Given the description of an element on the screen output the (x, y) to click on. 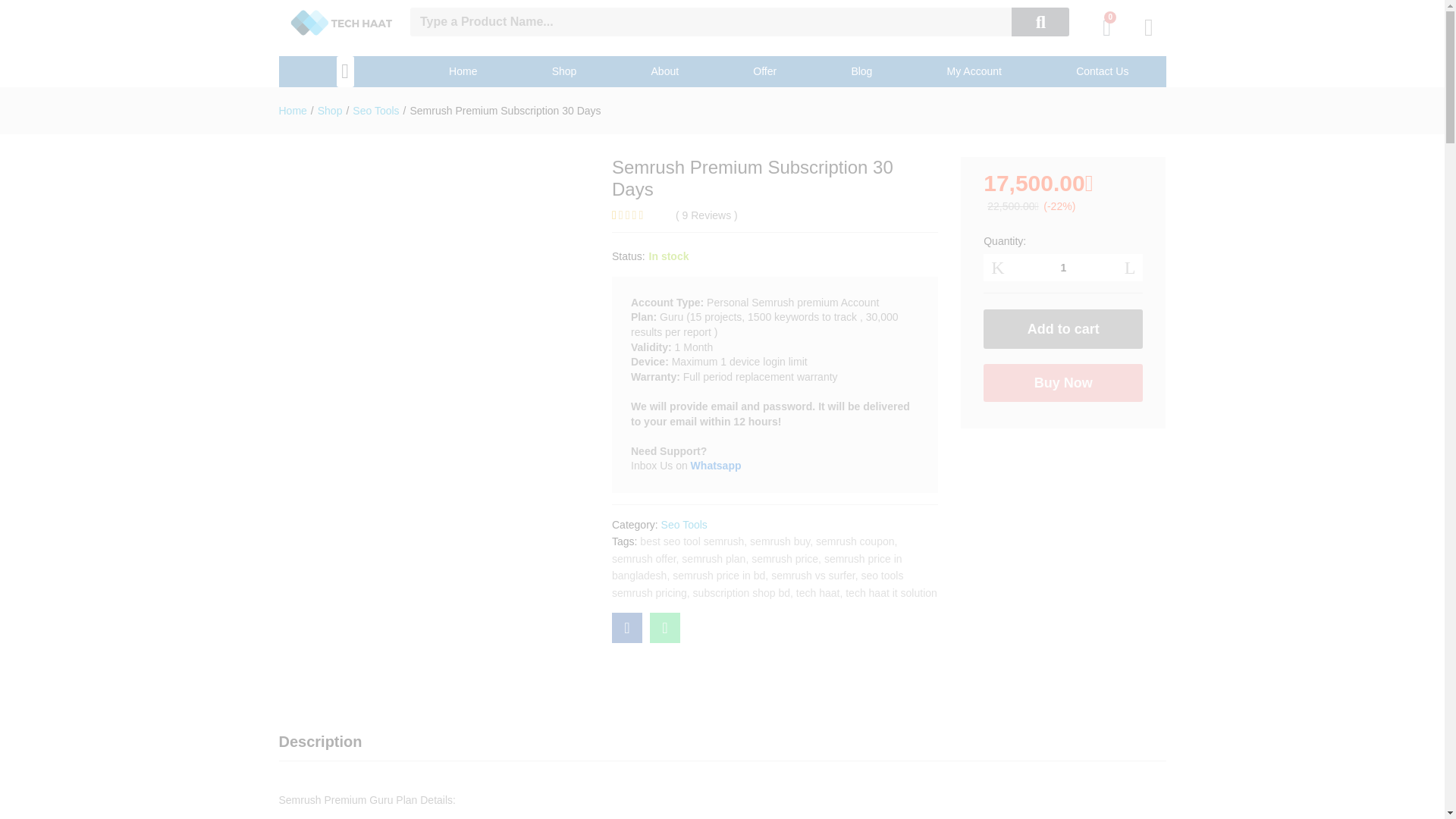
Semrush Premium Subscription 30 Days (664, 627)
1 (1062, 267)
Offer (764, 70)
0 (1106, 27)
Semrush Premium Subscription 30 Days (626, 627)
About (664, 70)
My Account (974, 70)
Contact Us (1102, 70)
Home (463, 70)
Shop (564, 70)
